Given the description of an element on the screen output the (x, y) to click on. 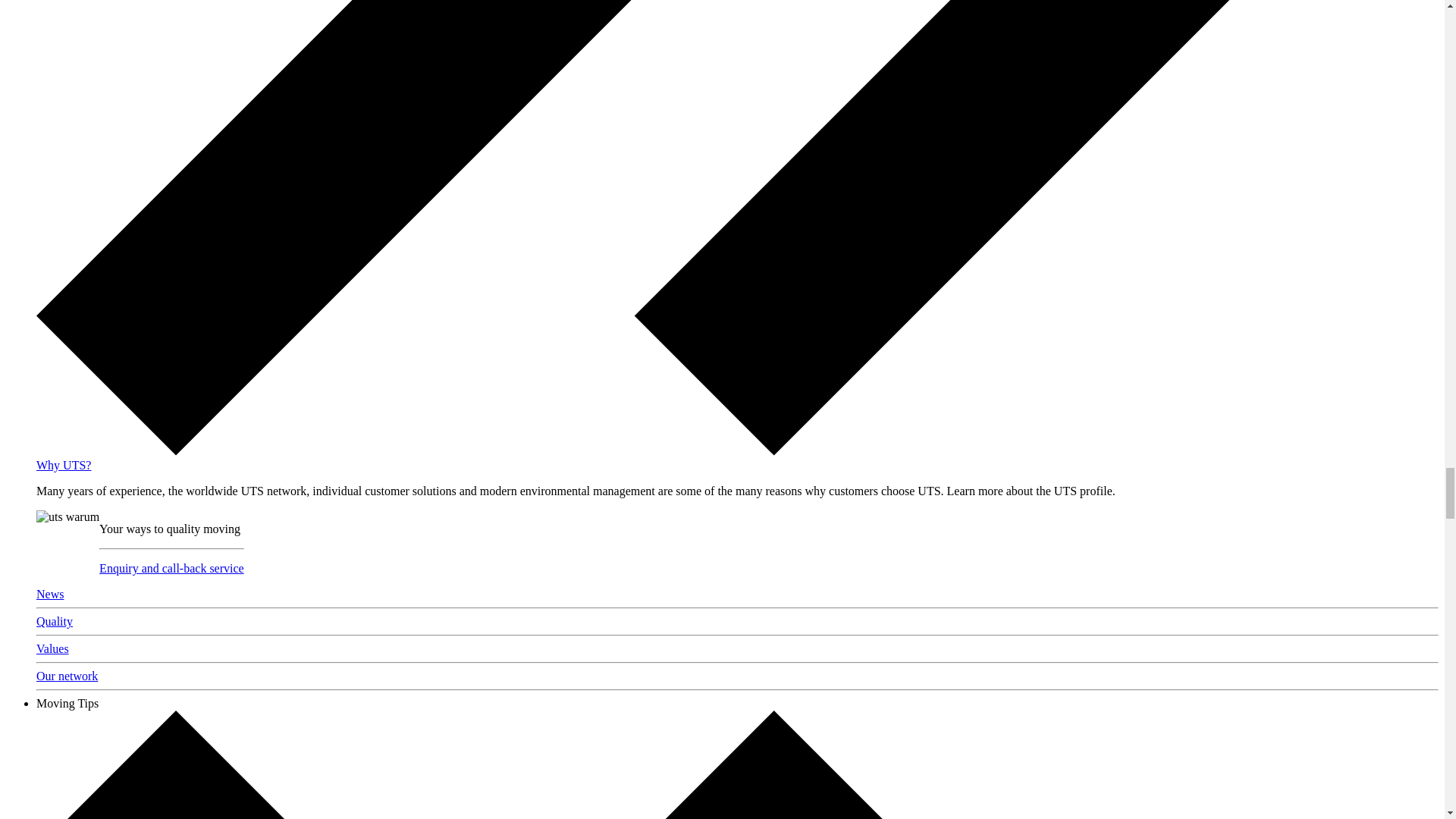
News (50, 594)
Enquiry and call-back service (171, 567)
Values (52, 648)
Quality (54, 621)
